Given the description of an element on the screen output the (x, y) to click on. 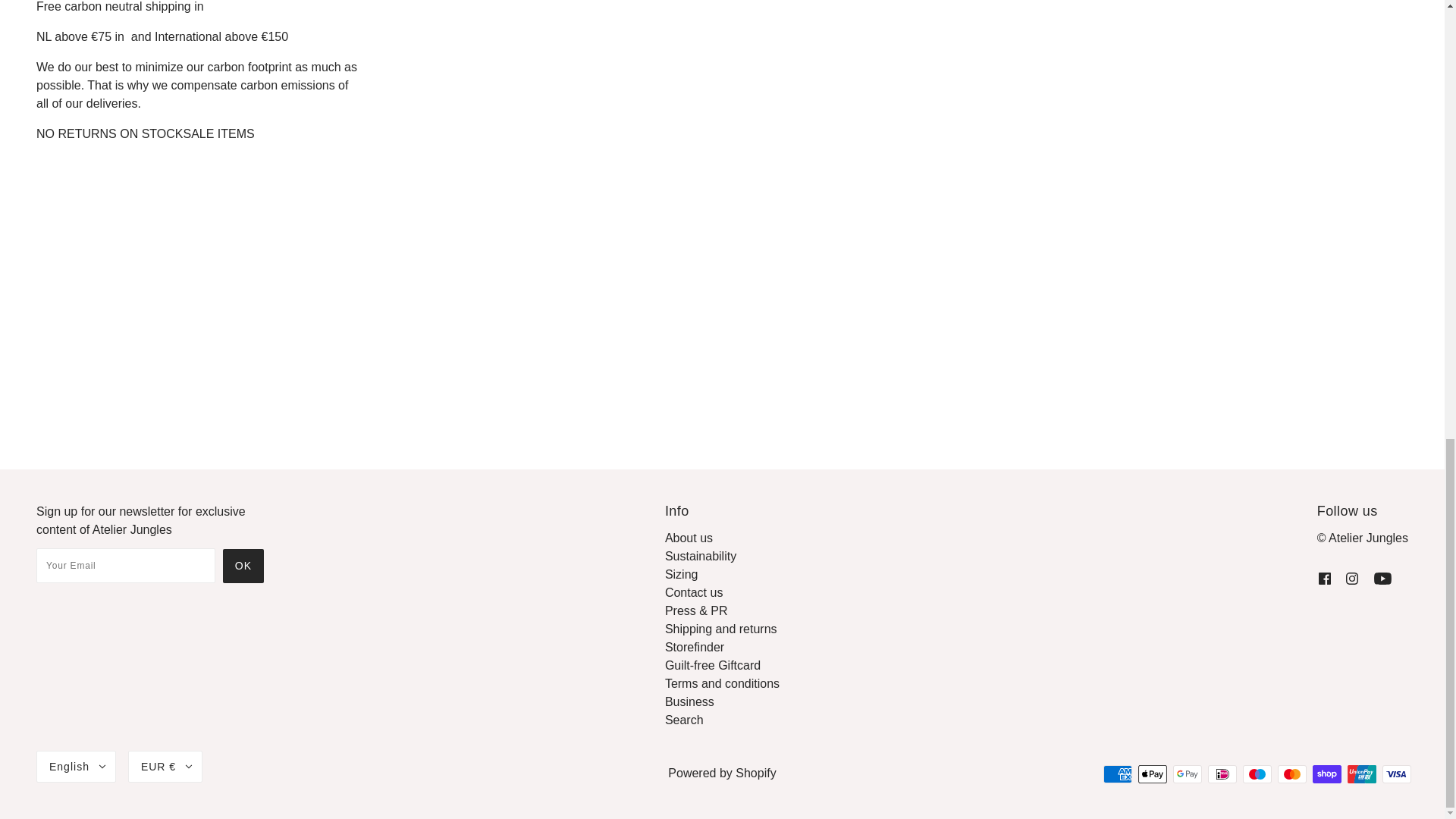
Search (684, 719)
Sizing (681, 574)
Maestro (1257, 773)
American Express (1117, 773)
Shipping and returns (721, 628)
Contact us (693, 592)
Mastercard (1292, 773)
iDEAL (1222, 773)
Storefinder (694, 646)
Google Pay (1187, 773)
